Given the description of an element on the screen output the (x, y) to click on. 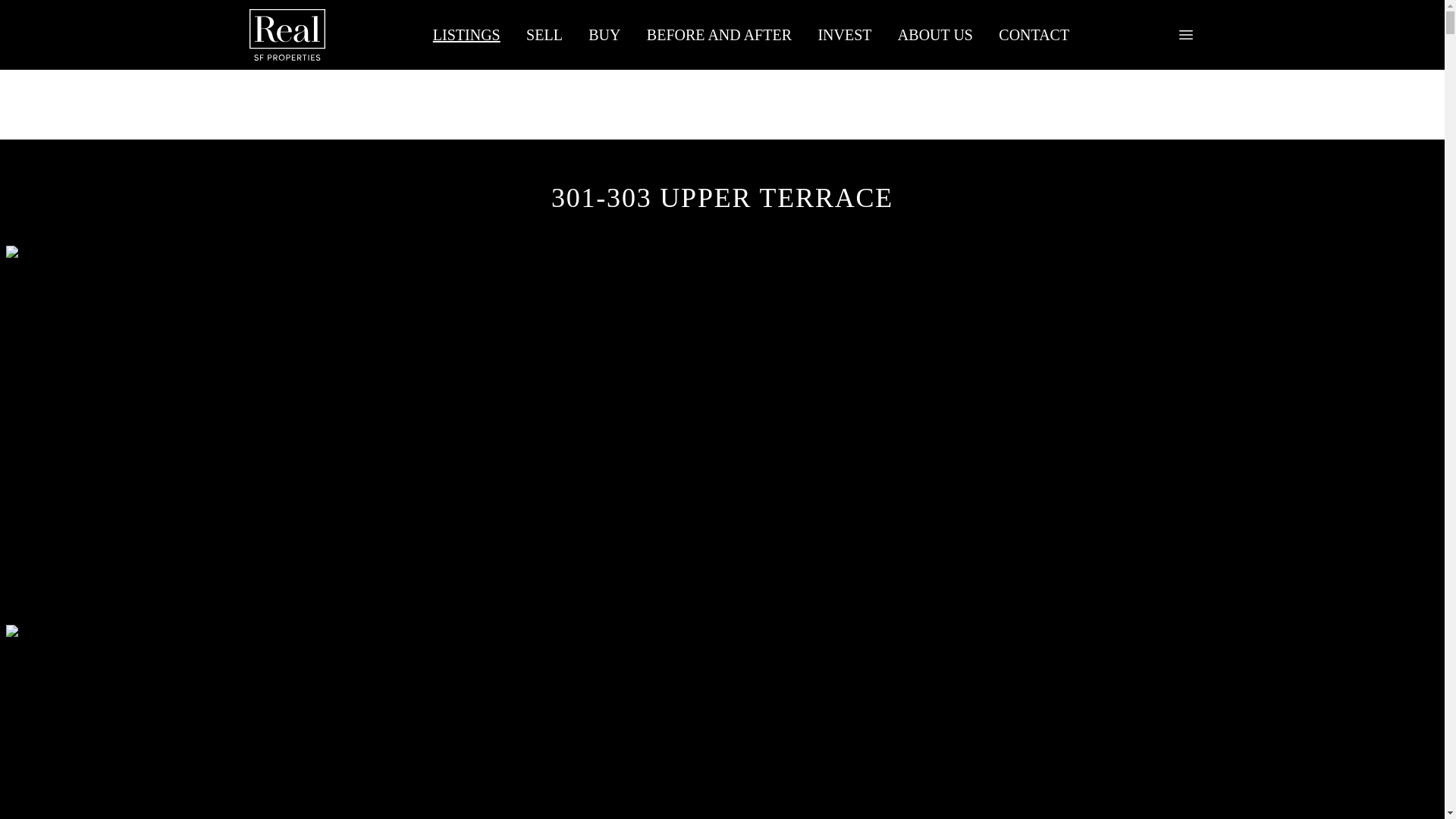
LISTINGS (466, 34)
CONTACT (1033, 34)
ABOUT US (935, 34)
BEFORE AND AFTER (719, 34)
INVEST (844, 34)
SELL (544, 34)
Open main menu (1185, 34)
